Given the description of an element on the screen output the (x, y) to click on. 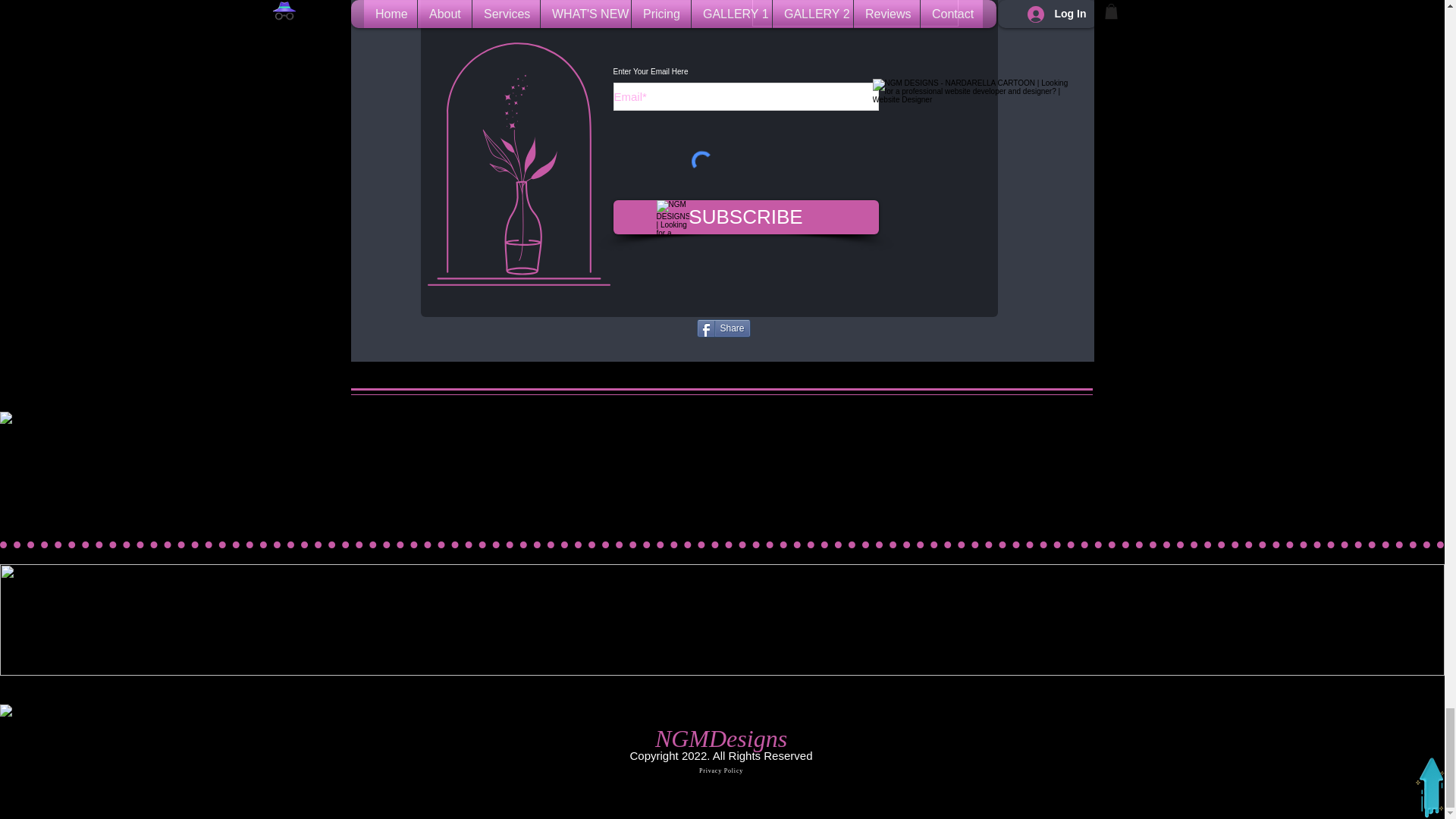
Share (722, 328)
Twitter Follow (653, 328)
Facebook Like (791, 328)
NGM DESIGNS (672, 216)
NGM DESIGNS SIGNATURE4PINK.png (855, 13)
